Given the description of an element on the screen output the (x, y) to click on. 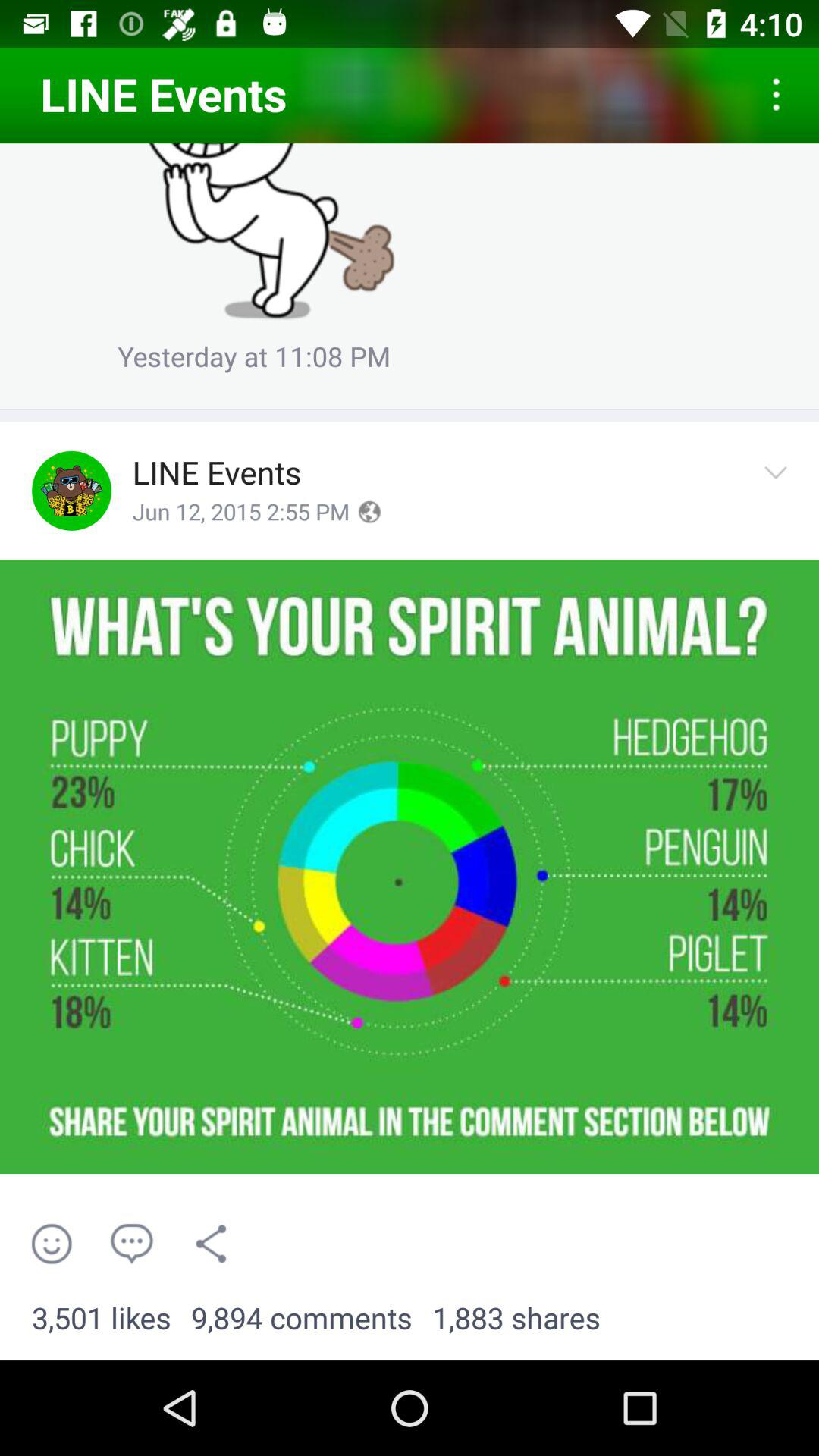
turn off the 3,501 likes icon (101, 1318)
